Given the description of an element on the screen output the (x, y) to click on. 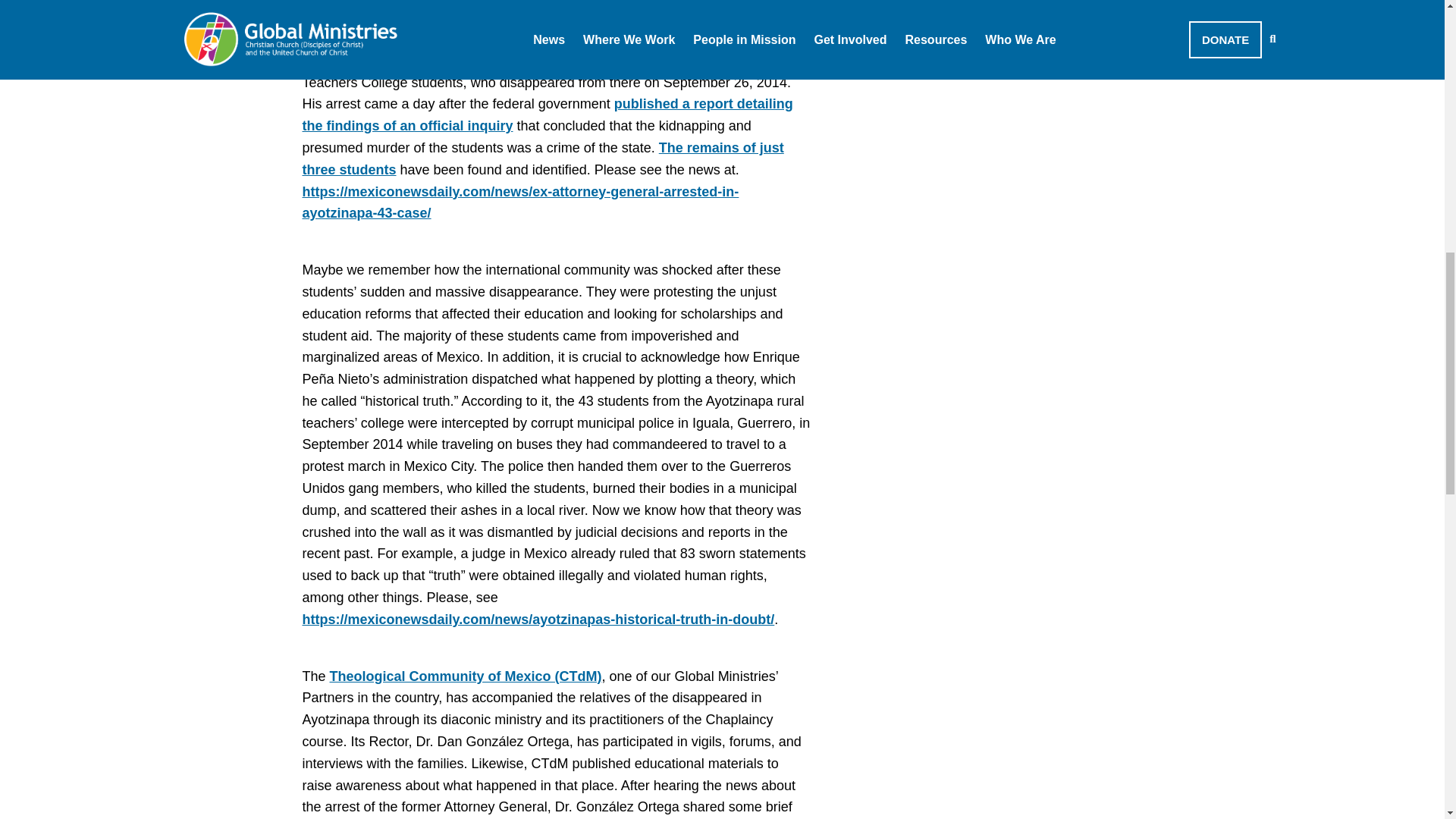
Search (1013, 47)
Search (1013, 47)
